Given the description of an element on the screen output the (x, y) to click on. 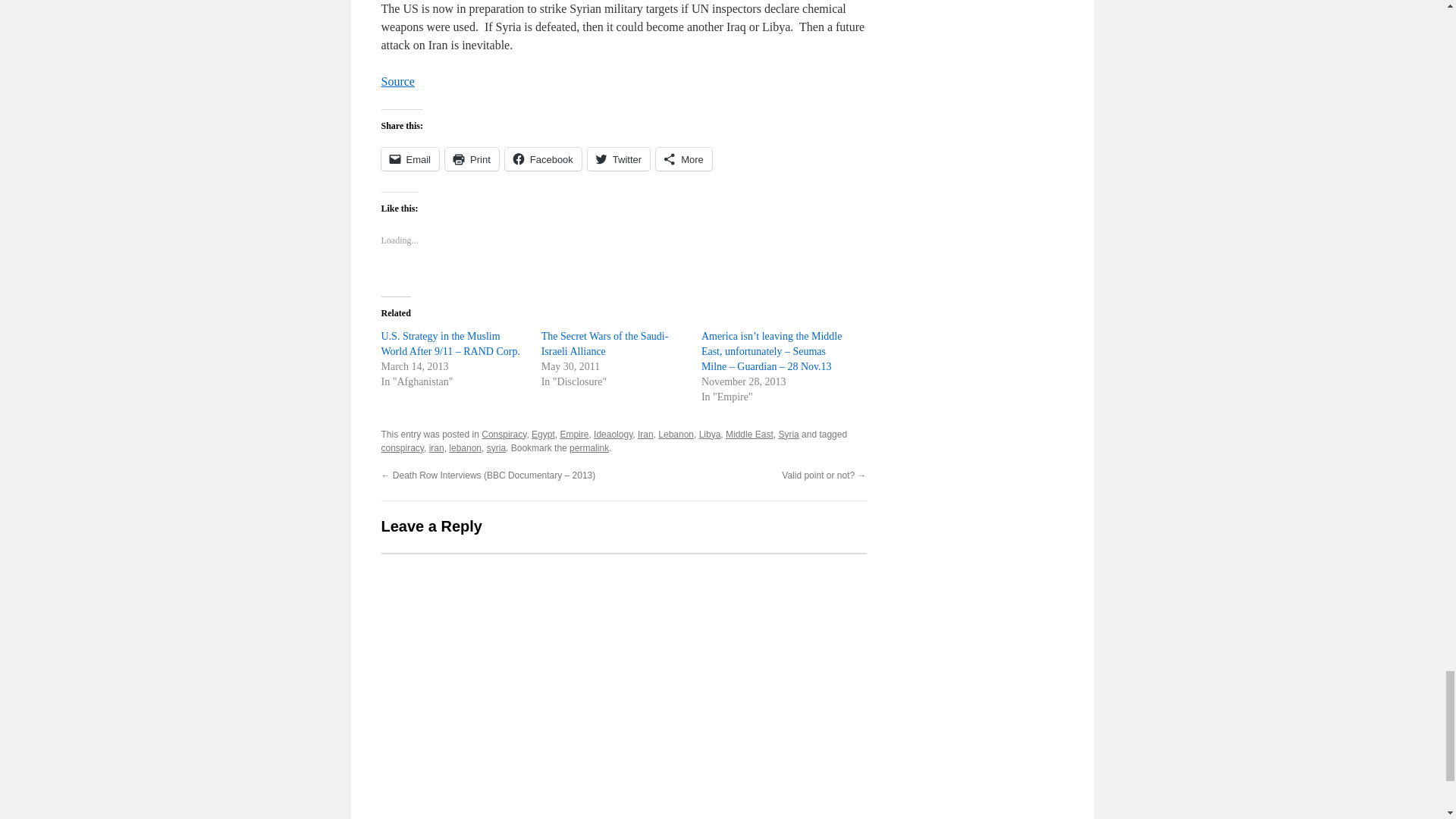
Egypt (542, 434)
Click to share on Facebook (542, 159)
Libya (709, 434)
Conspiracy (503, 434)
Syria (787, 434)
Print (472, 159)
Twitter (618, 159)
Iran (645, 434)
Source (396, 81)
Click to share on Twitter (618, 159)
